Given the description of an element on the screen output the (x, y) to click on. 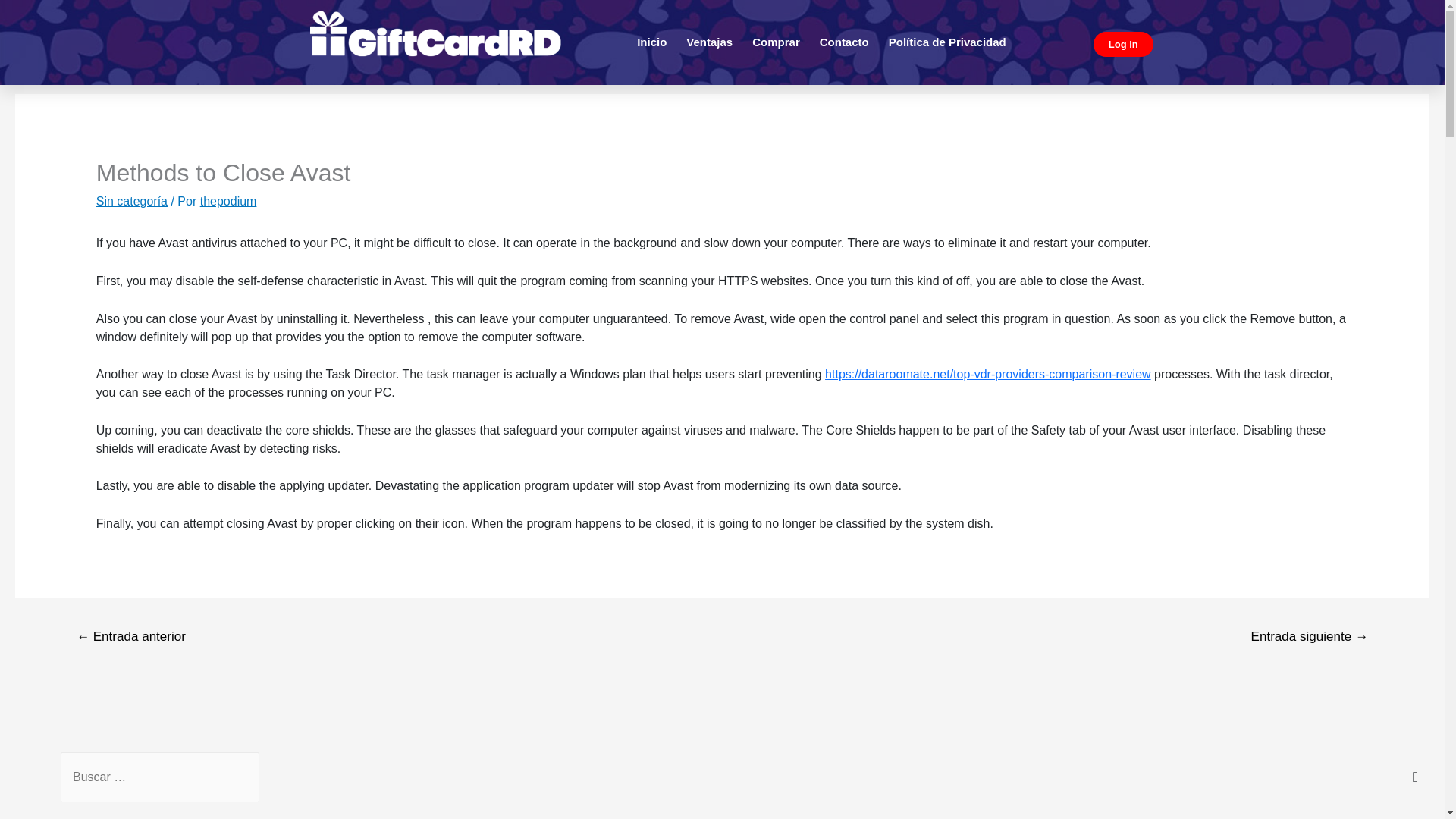
Log In (1123, 43)
thepodium (228, 201)
Inicio (652, 42)
Ventajas (709, 42)
Comprar (775, 42)
Contacto (844, 42)
Ver todas las entradas de thepodium (228, 201)
